Given the description of an element on the screen output the (x, y) to click on. 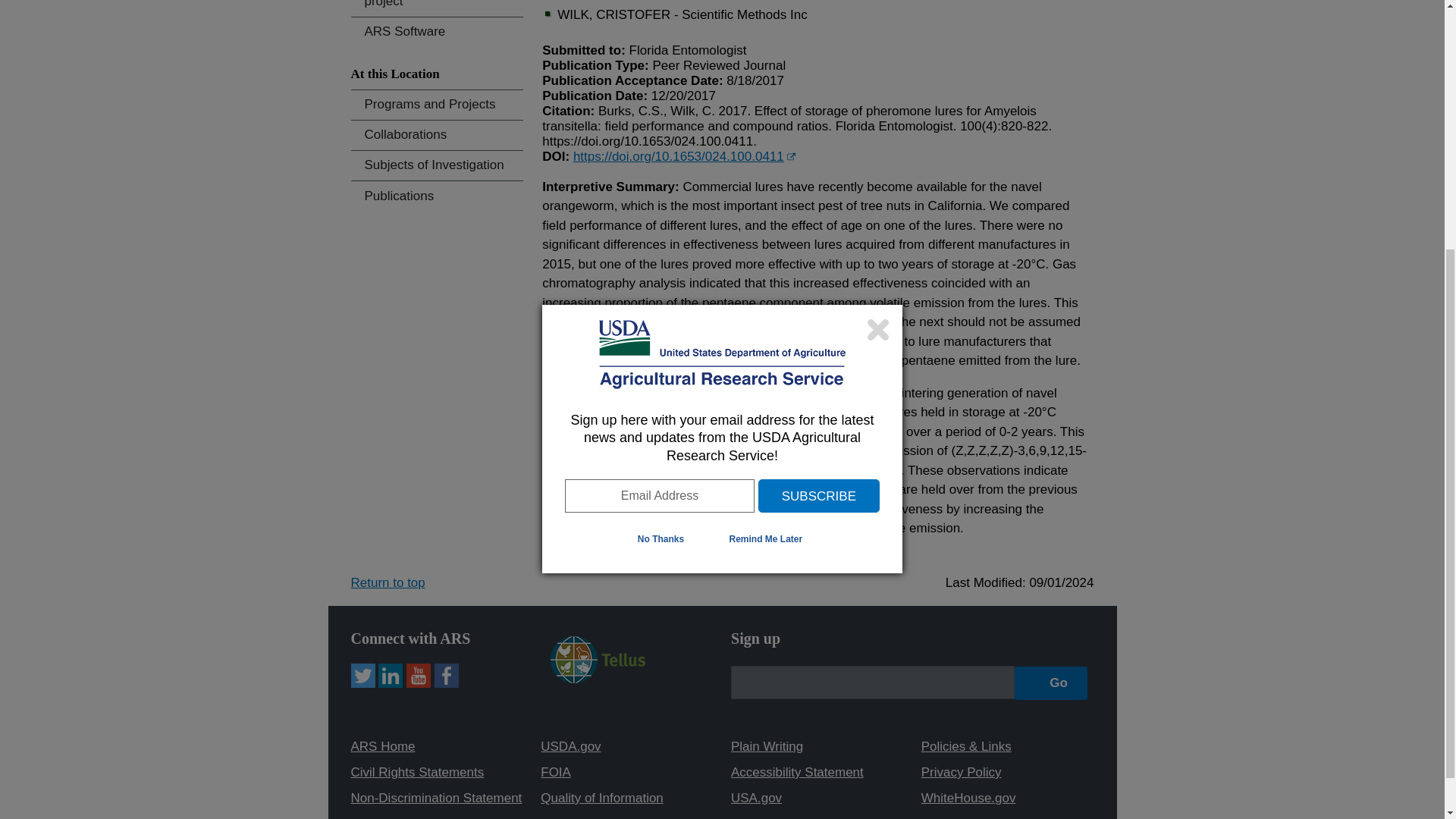
Search for a research project (436, 7)
Subscribe (818, 125)
ARS Software (436, 31)
Youtube (418, 674)
Go (1050, 682)
Facebook Icon (445, 674)
LinkedIn (390, 674)
Email Address (659, 125)
Tellus (597, 678)
Twitter (362, 674)
